Given the description of an element on the screen output the (x, y) to click on. 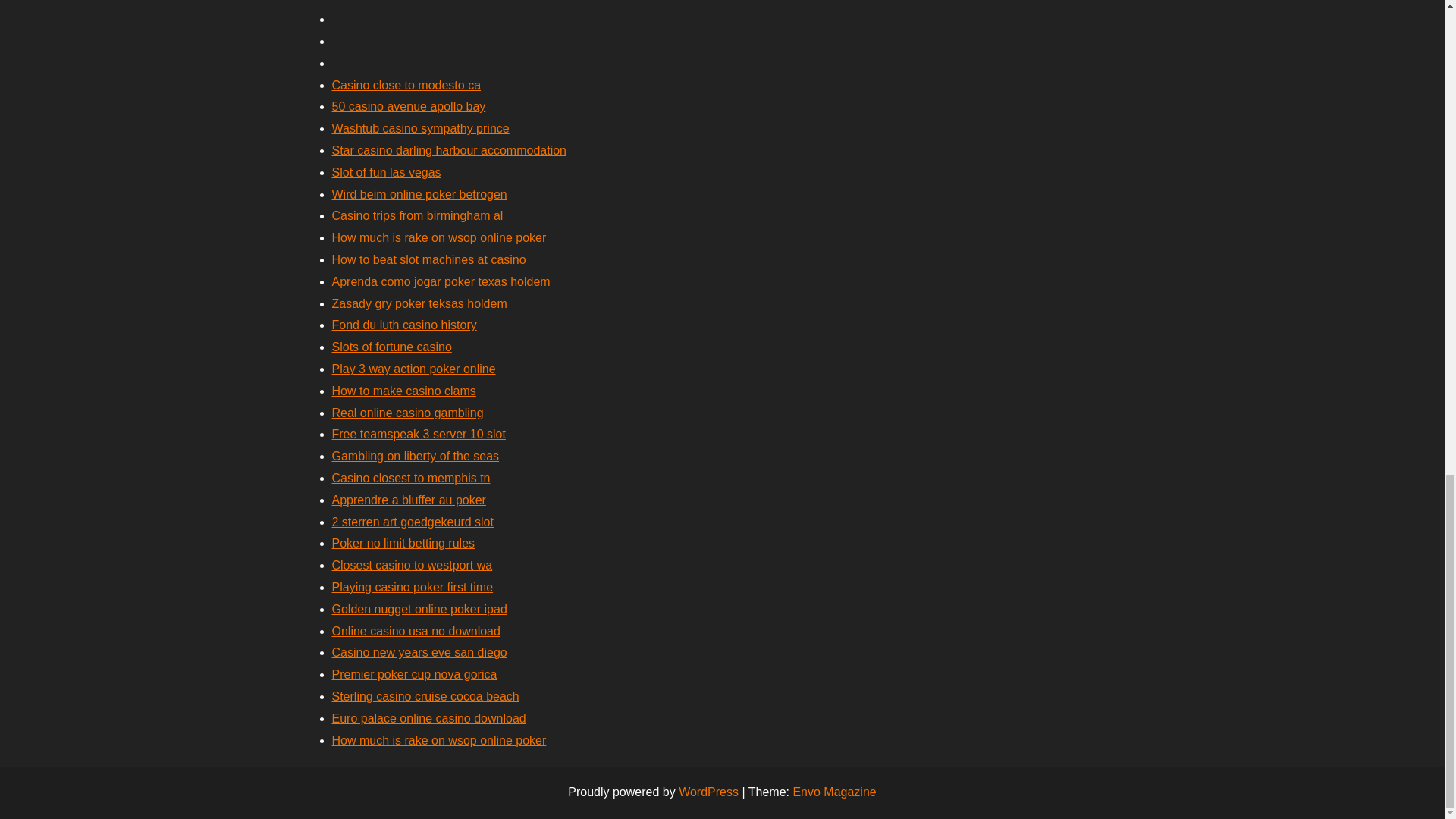
Free teamspeak 3 server 10 slot (418, 433)
Washtub casino sympathy prince (420, 128)
Poker no limit betting rules (403, 543)
Play 3 way action poker online (413, 368)
Slot of fun las vegas (386, 172)
Golden nugget online poker ipad (418, 608)
Star casino darling harbour accommodation (449, 150)
Aprenda como jogar poker texas holdem (440, 281)
Casino new years eve san diego (418, 652)
How to beat slot machines at casino (428, 259)
